Given the description of an element on the screen output the (x, y) to click on. 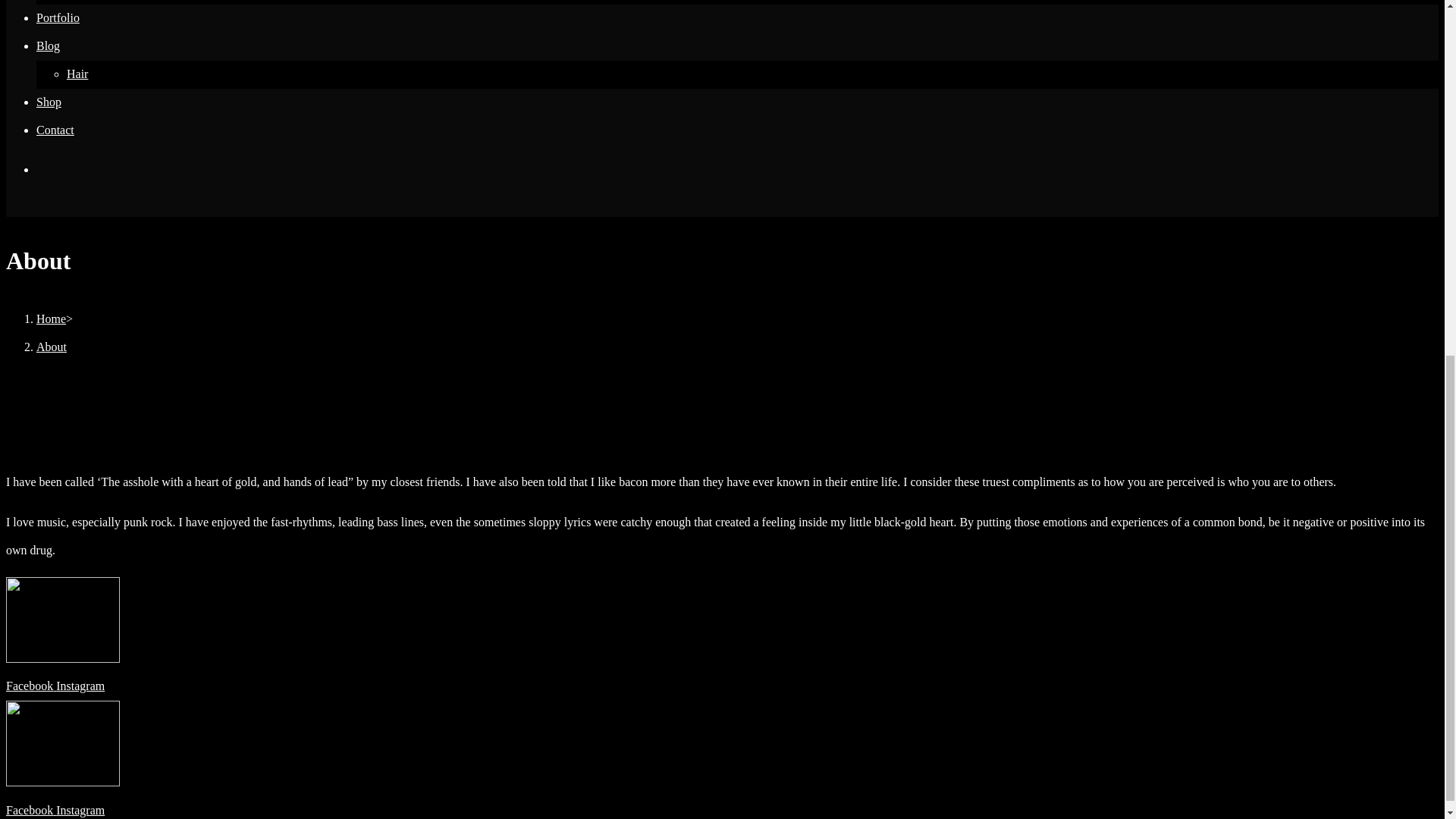
Facebook (30, 809)
Blog (47, 45)
Home (50, 318)
Hair (76, 73)
Shop (48, 101)
Contact (55, 129)
Instagram (80, 809)
Portfolio (58, 17)
About (51, 346)
Facebook (30, 685)
Instagram (80, 685)
